Given the description of an element on the screen output the (x, y) to click on. 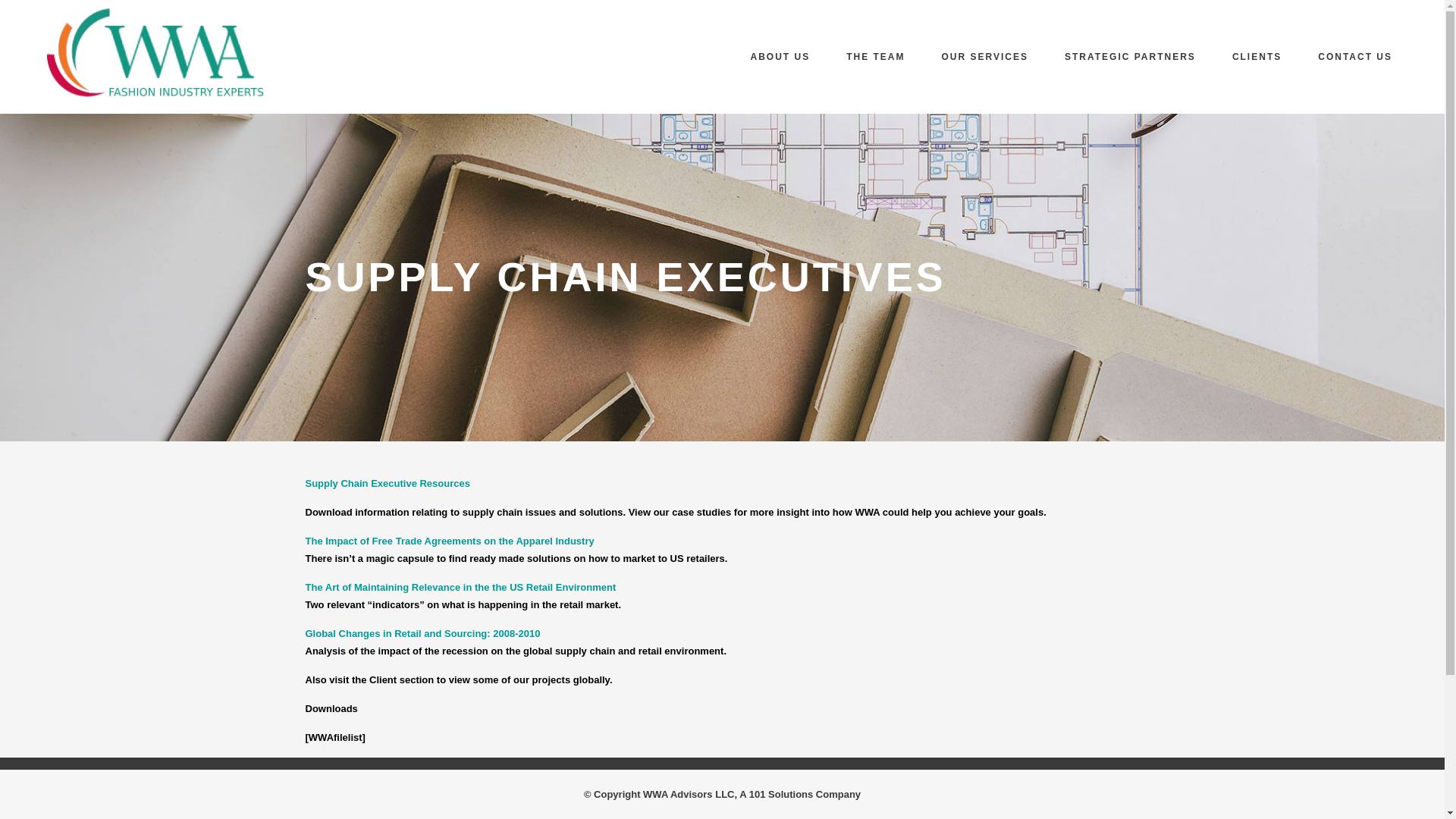
OUR SERVICES (984, 56)
Contact WWA (1355, 56)
CONTACT US (1355, 56)
CLIENTS (1257, 56)
About WWA Advisors, fashion industry consultants  (780, 56)
STRATEGIC PARTNERS (1130, 56)
Follow us on Twitter (345, 694)
Learn about the consulting services WWA offers. (984, 56)
ABOUT US (780, 56)
by (427, 697)
Find us on LinkedIn (373, 694)
Follow us on Facebook! (316, 694)
THE TEAM (875, 56)
